Given the description of an element on the screen output the (x, y) to click on. 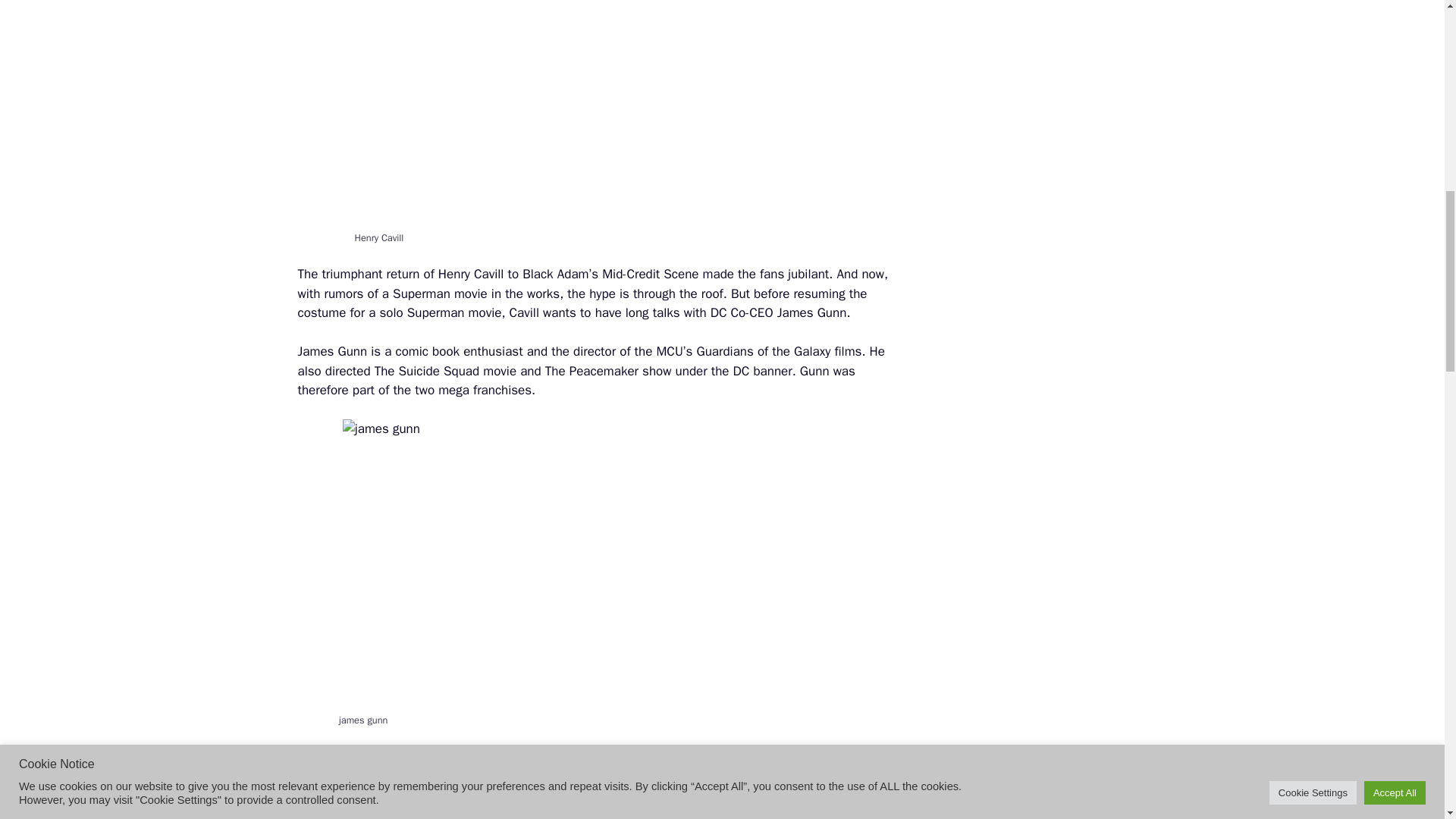
DC Co-CEO James Gunn (778, 312)
Scroll back to top (1406, 720)
